Given the description of an element on the screen output the (x, y) to click on. 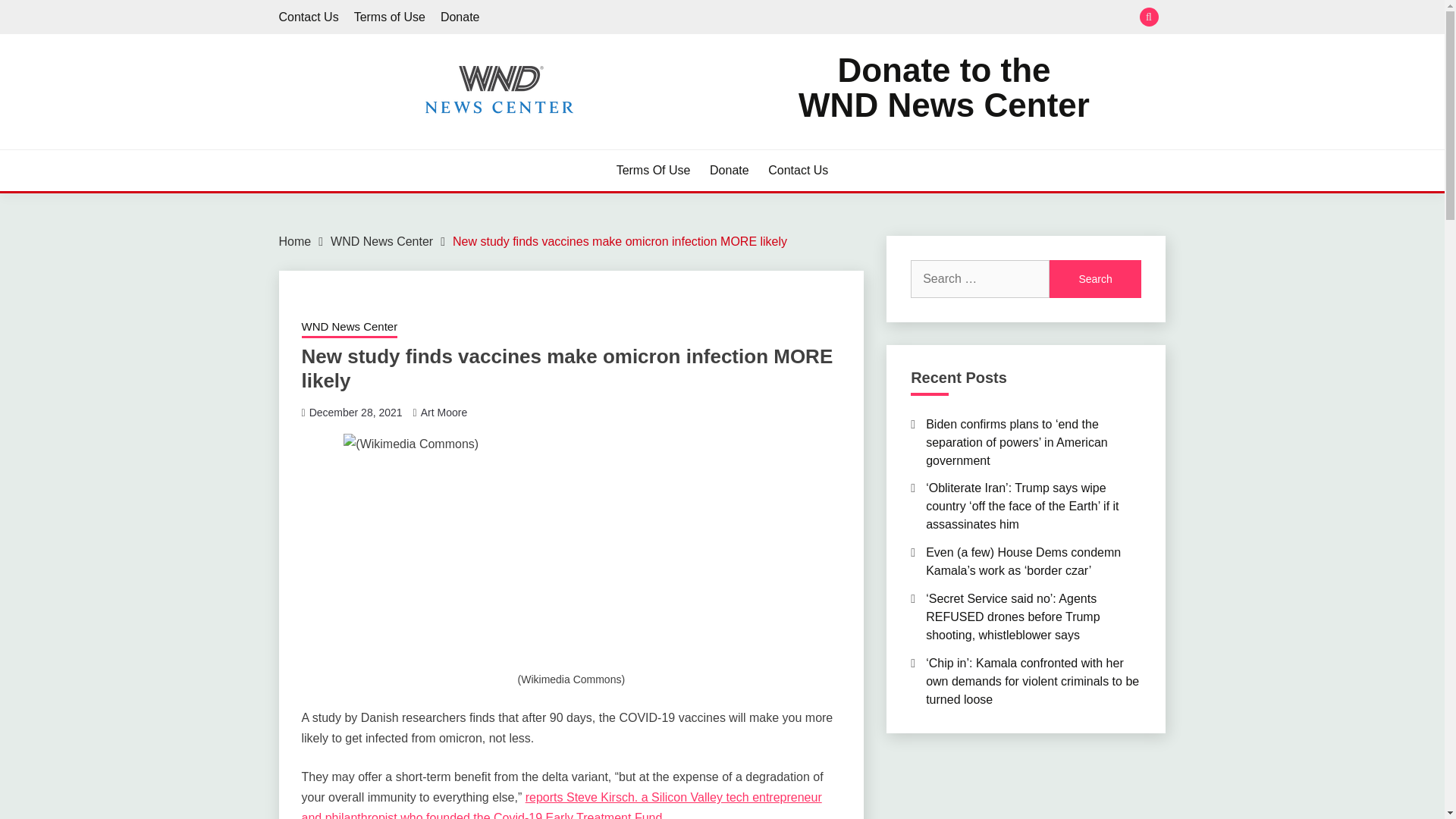
WND NEWS CENTER (419, 142)
Home (295, 241)
Search (1095, 279)
Contact Us (798, 170)
Art Moore (443, 412)
Terms Of Use (652, 170)
Search (832, 18)
WND News Center (943, 87)
Contact Us (381, 241)
Search (309, 16)
Donate (1095, 279)
Terms of Use (460, 16)
December 28, 2021 (389, 16)
